Given the description of an element on the screen output the (x, y) to click on. 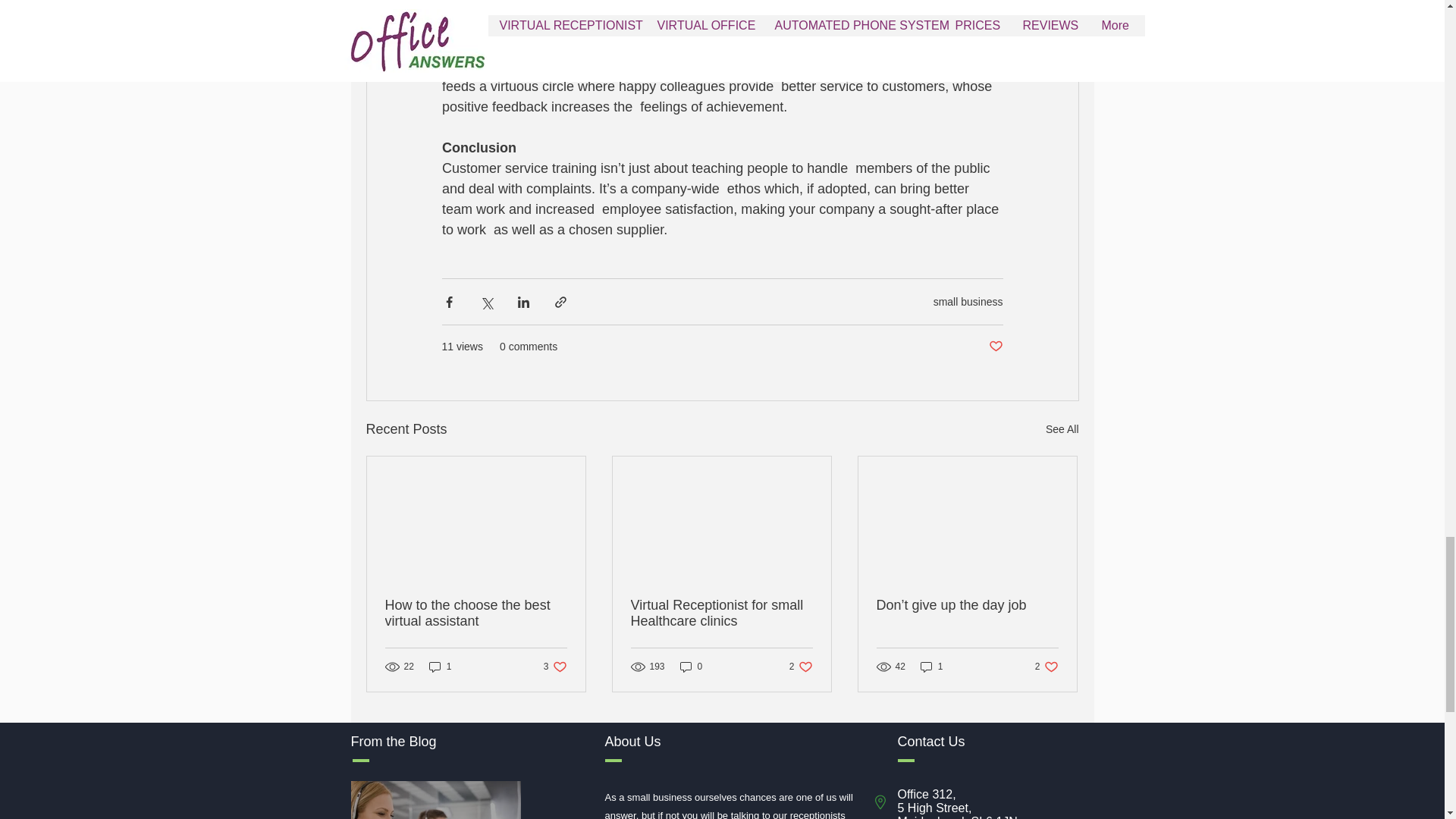
small business (968, 301)
See All (1061, 429)
How to the choose the best virtual assistant (476, 613)
Post not marked as liked (995, 346)
